Given the description of an element on the screen output the (x, y) to click on. 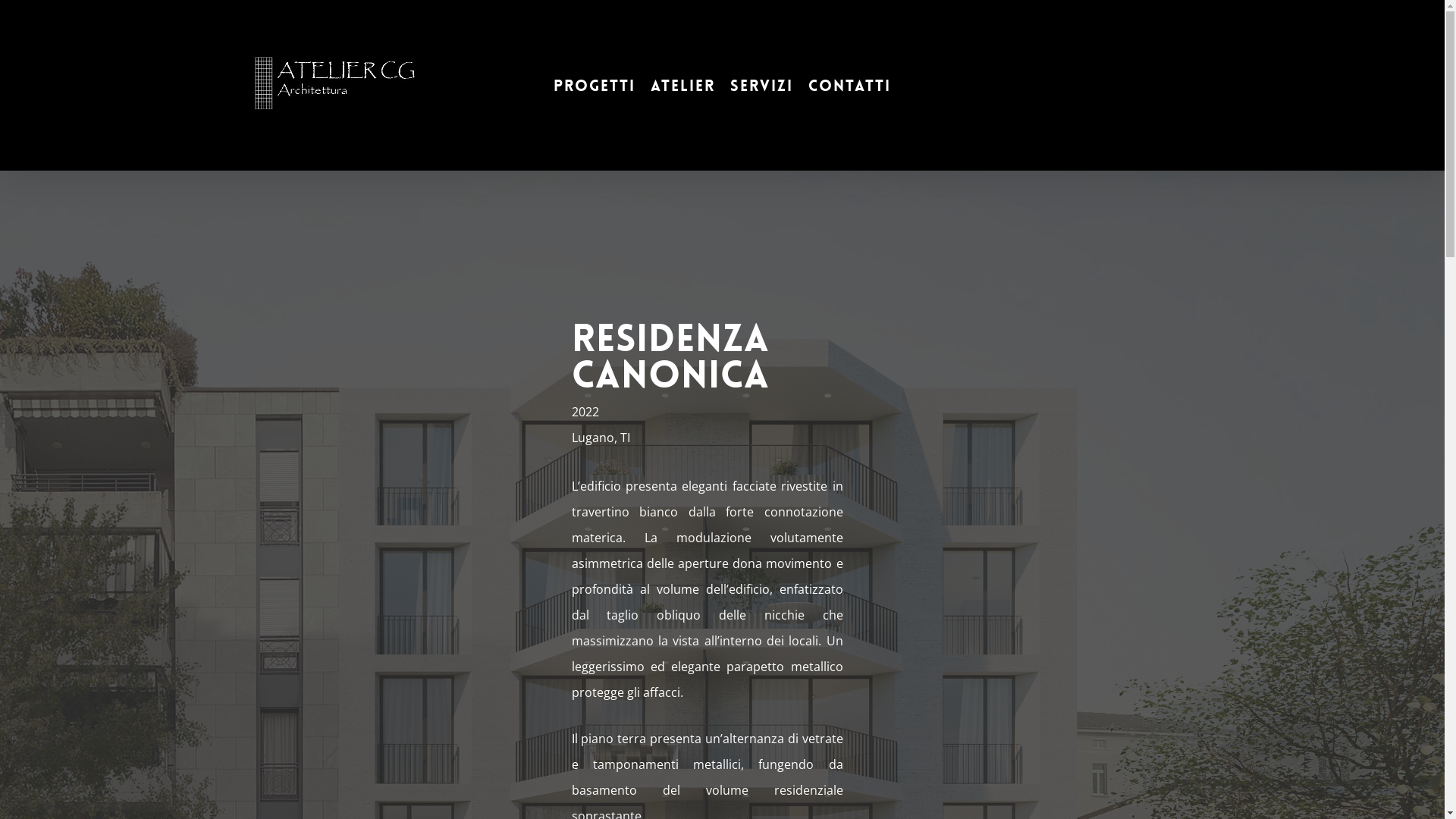
CONTATTI Element type: text (849, 84)
PROGETTI Element type: text (594, 84)
SERVIZI Element type: text (761, 84)
ATELIER Element type: text (682, 84)
